Given the description of an element on the screen output the (x, y) to click on. 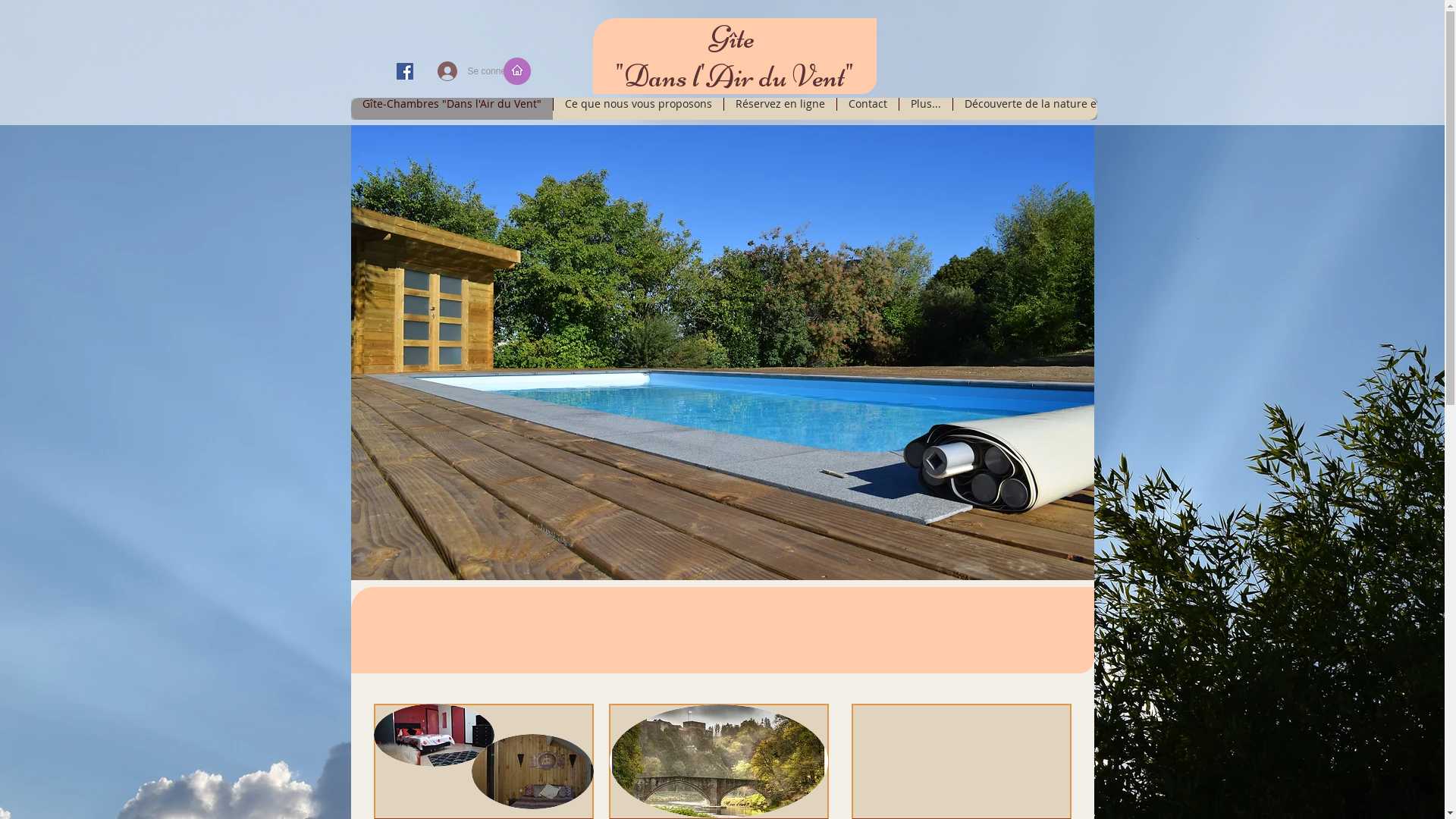
Plus... Element type: text (924, 108)
Ce que nous vous proposons Element type: text (637, 108)
Contact Element type: text (866, 108)
Se connecter Element type: text (457, 70)
